Given the description of an element on the screen output the (x, y) to click on. 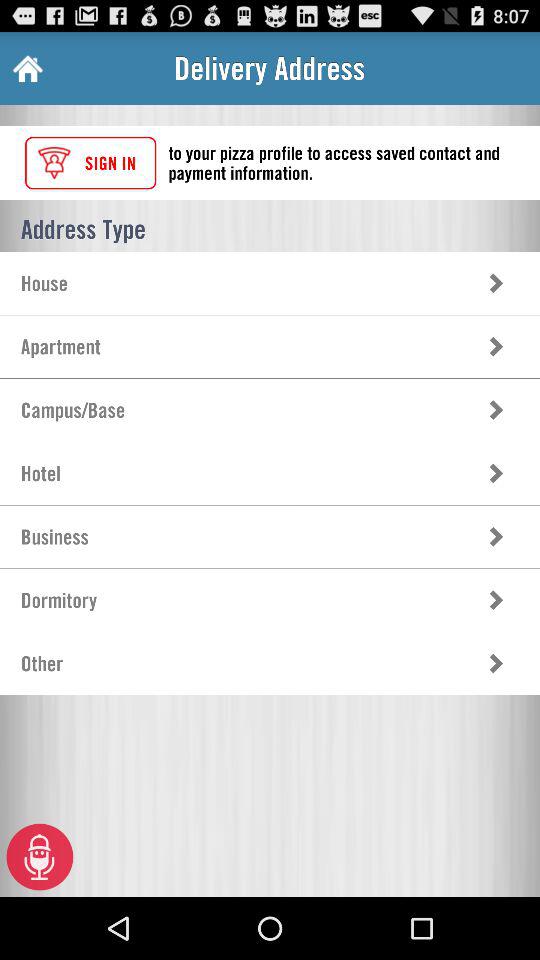
turn off the item next to the delivery address item (26, 68)
